Given the description of an element on the screen output the (x, y) to click on. 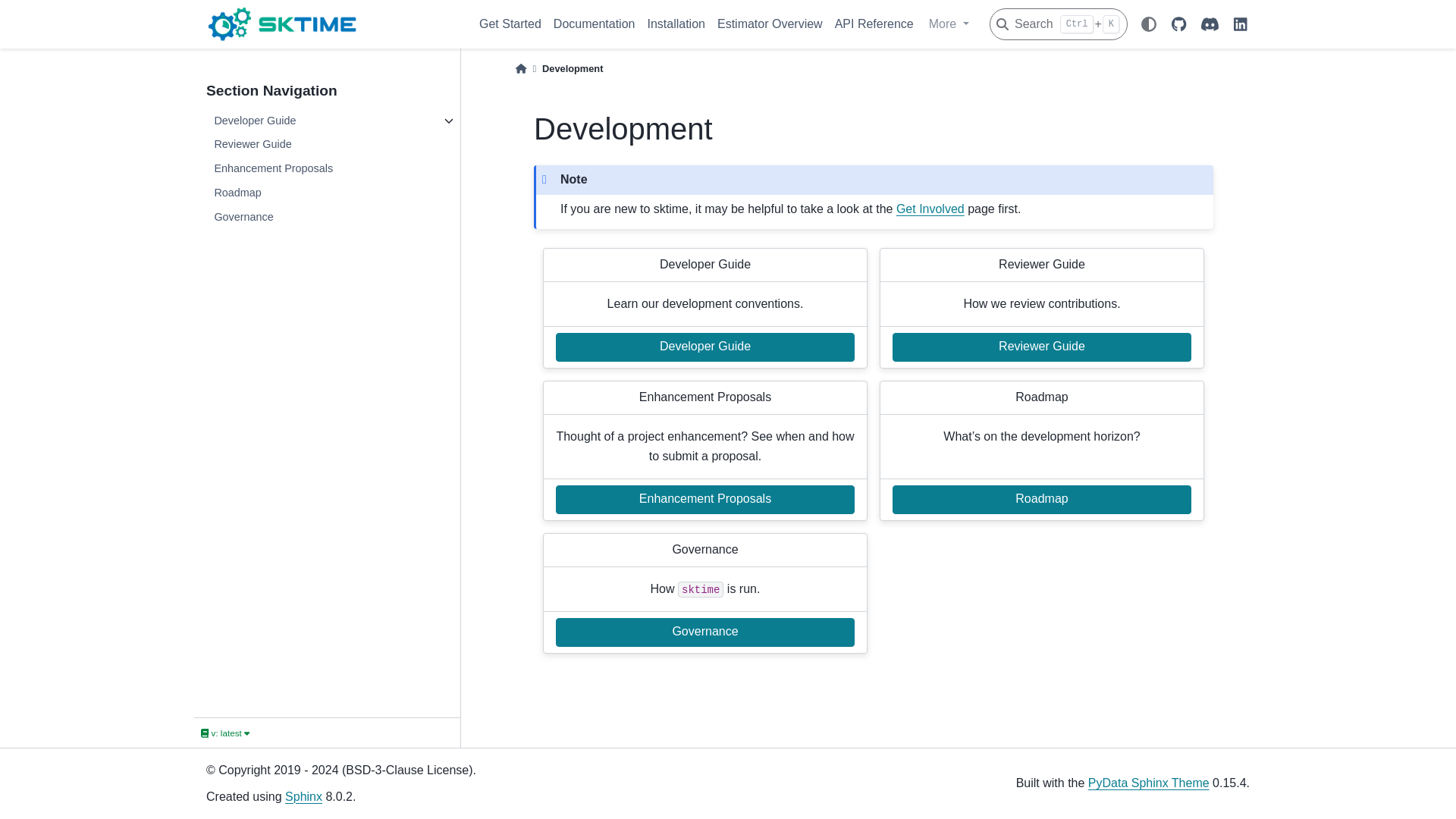
Estimator Overview (770, 23)
Get Started (510, 23)
API Reference (873, 23)
Installation (676, 23)
Developer Guide (320, 120)
More (949, 23)
Documentation (594, 23)
